Given the description of an element on the screen output the (x, y) to click on. 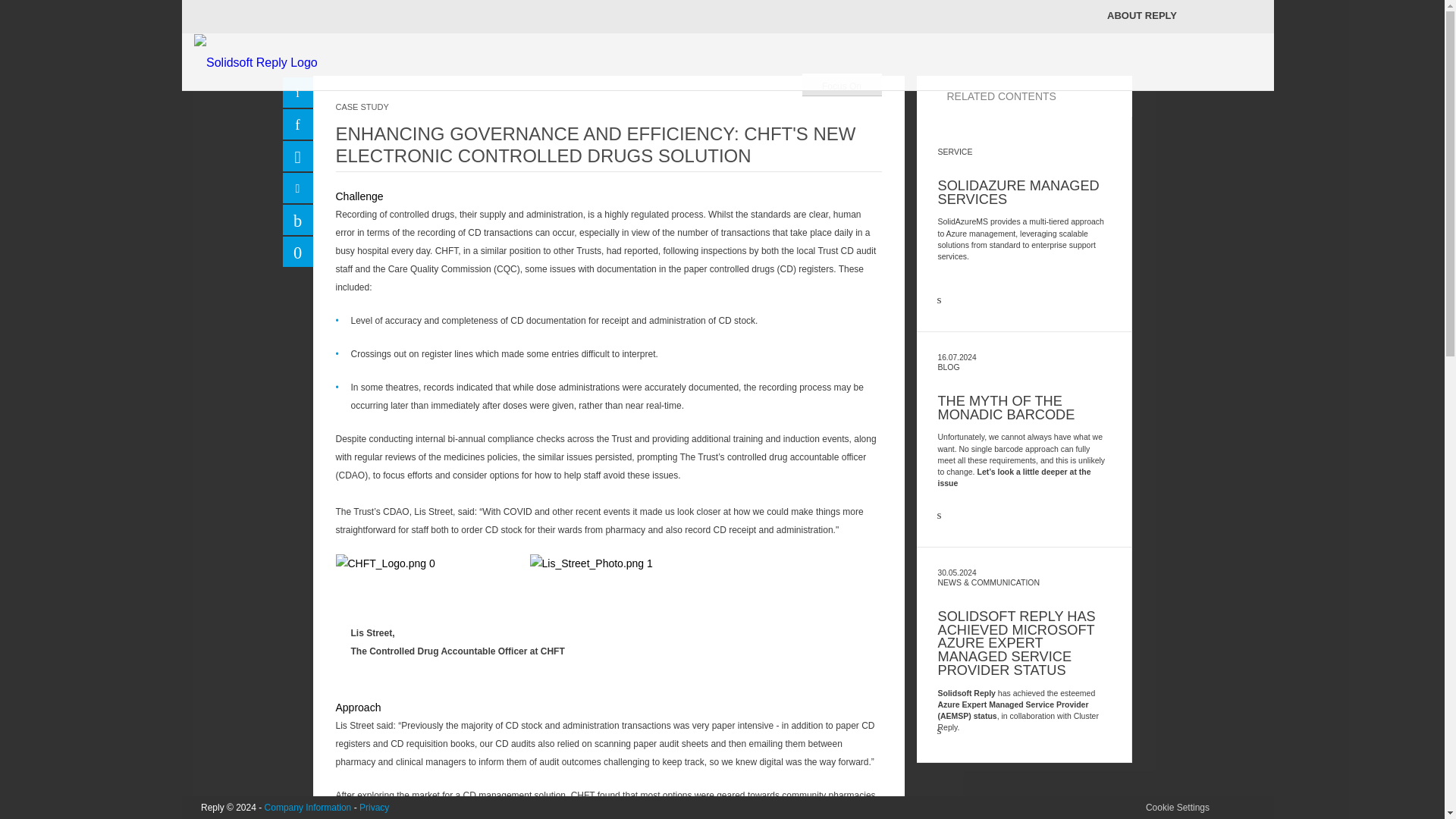
ABOUT REPLY (1142, 15)
